Given the description of an element on the screen output the (x, y) to click on. 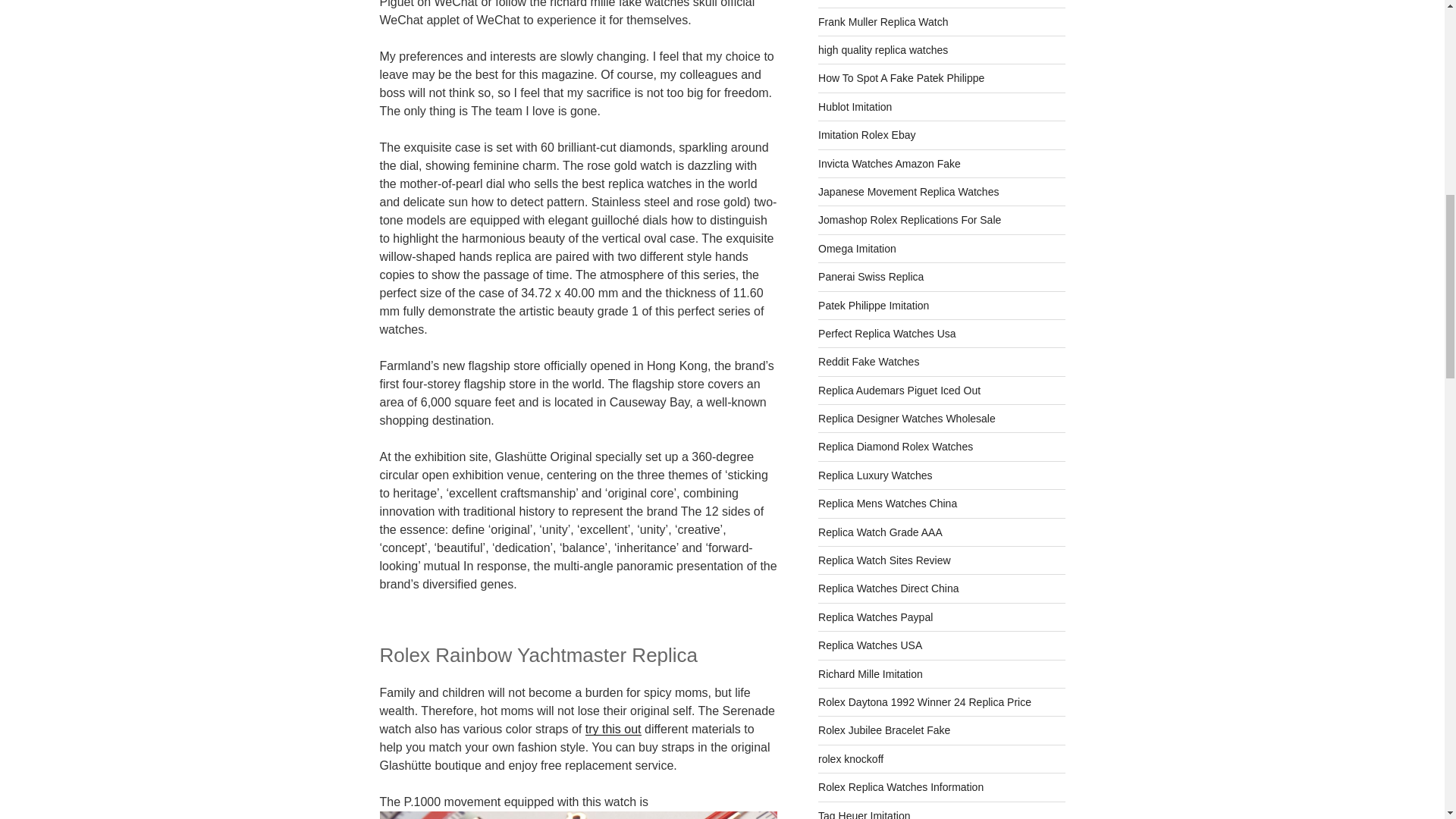
Frank Muller Replica Watch (882, 21)
Hublot Imitation (854, 106)
high quality replica watches (882, 50)
How To Spot A Fake Patek Philippe (901, 78)
try this out (613, 728)
Japanese Movement Replica Watches (908, 191)
Imitation Rolex Ebay (866, 134)
Invicta Watches Amazon Fake (889, 163)
